Given the description of an element on the screen output the (x, y) to click on. 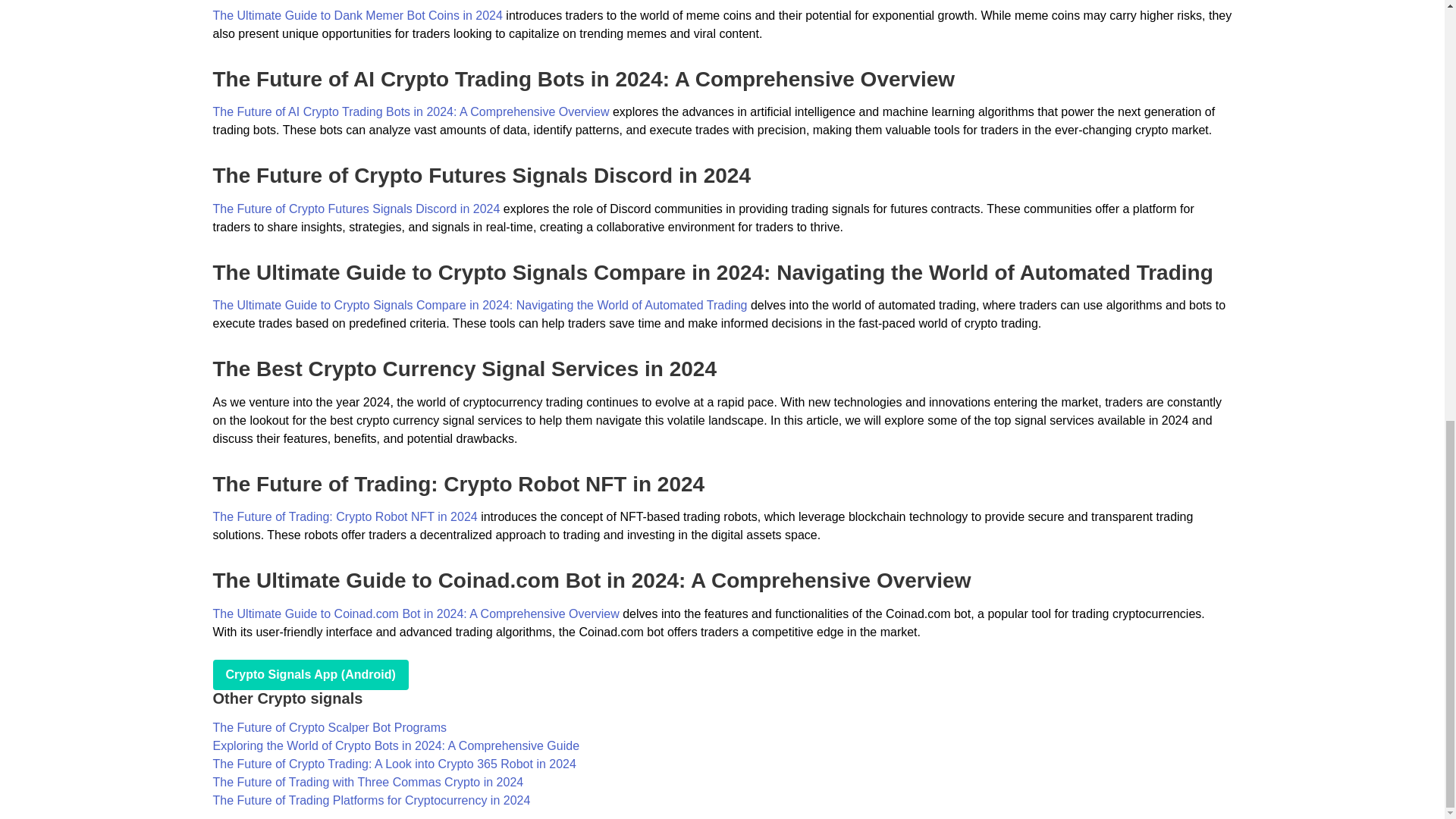
The Future of Crypto Scalper Bot Programs (329, 727)
The Future of Crypto Scalper Bot Programs (329, 727)
The Future of Trading: Crypto Robot NFT in 2024 (344, 516)
The Future of Trading with Three Commas Crypto in 2024 (367, 781)
The Future of Trading Platforms for Cryptocurrency in 2024 (370, 799)
The Future of Trading with Three Commas Crypto in 2024 (367, 781)
The Future of Crypto Futures Signals Discord in 2024 (355, 208)
play (309, 675)
The Ultimate Guide to Dank Memer Bot Coins in 2024 (357, 15)
The Future of Trading Platforms for Cryptocurrency in 2024 (370, 799)
